Given the description of an element on the screen output the (x, y) to click on. 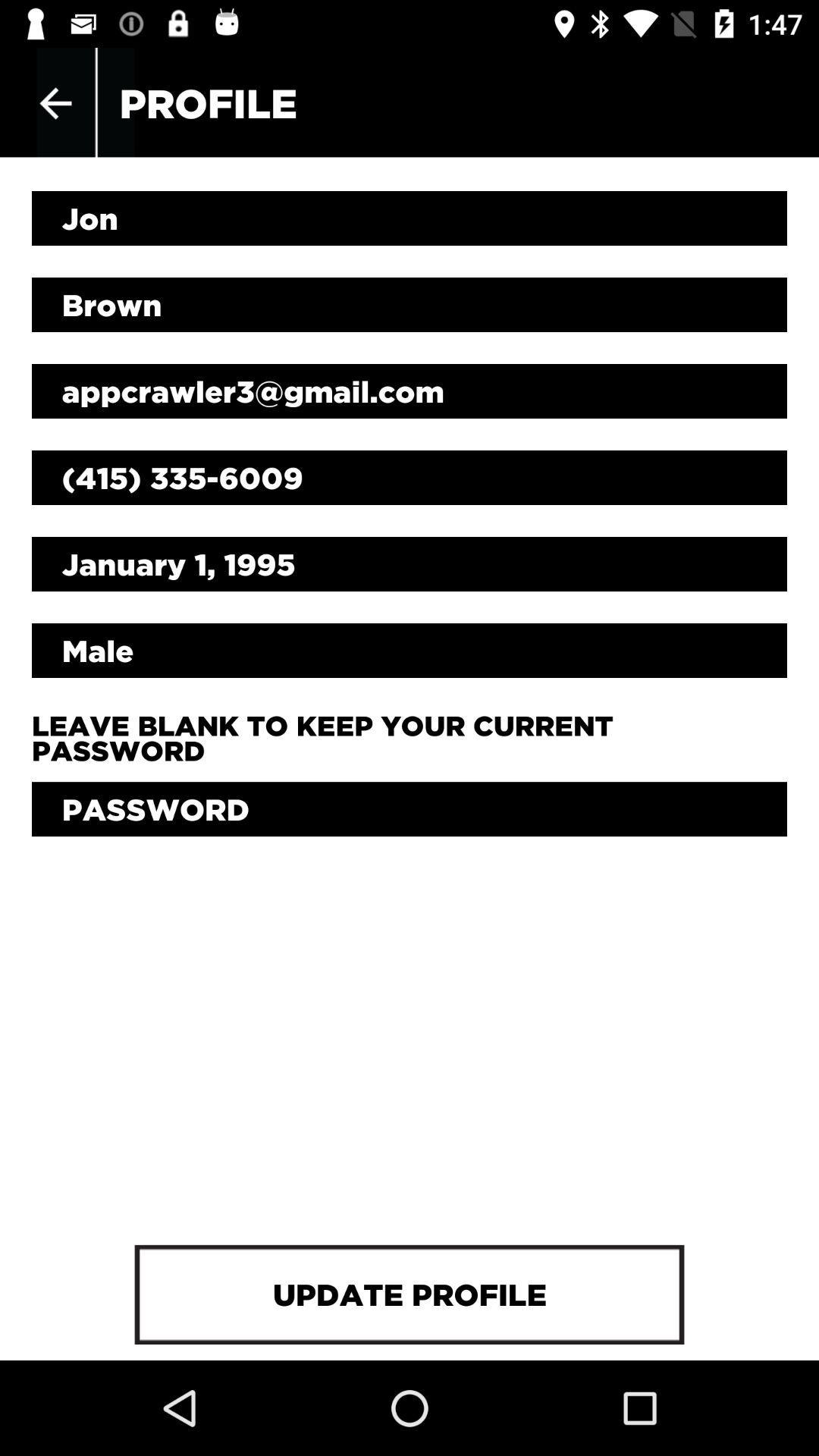
click icon above the brown item (409, 218)
